Given the description of an element on the screen output the (x, y) to click on. 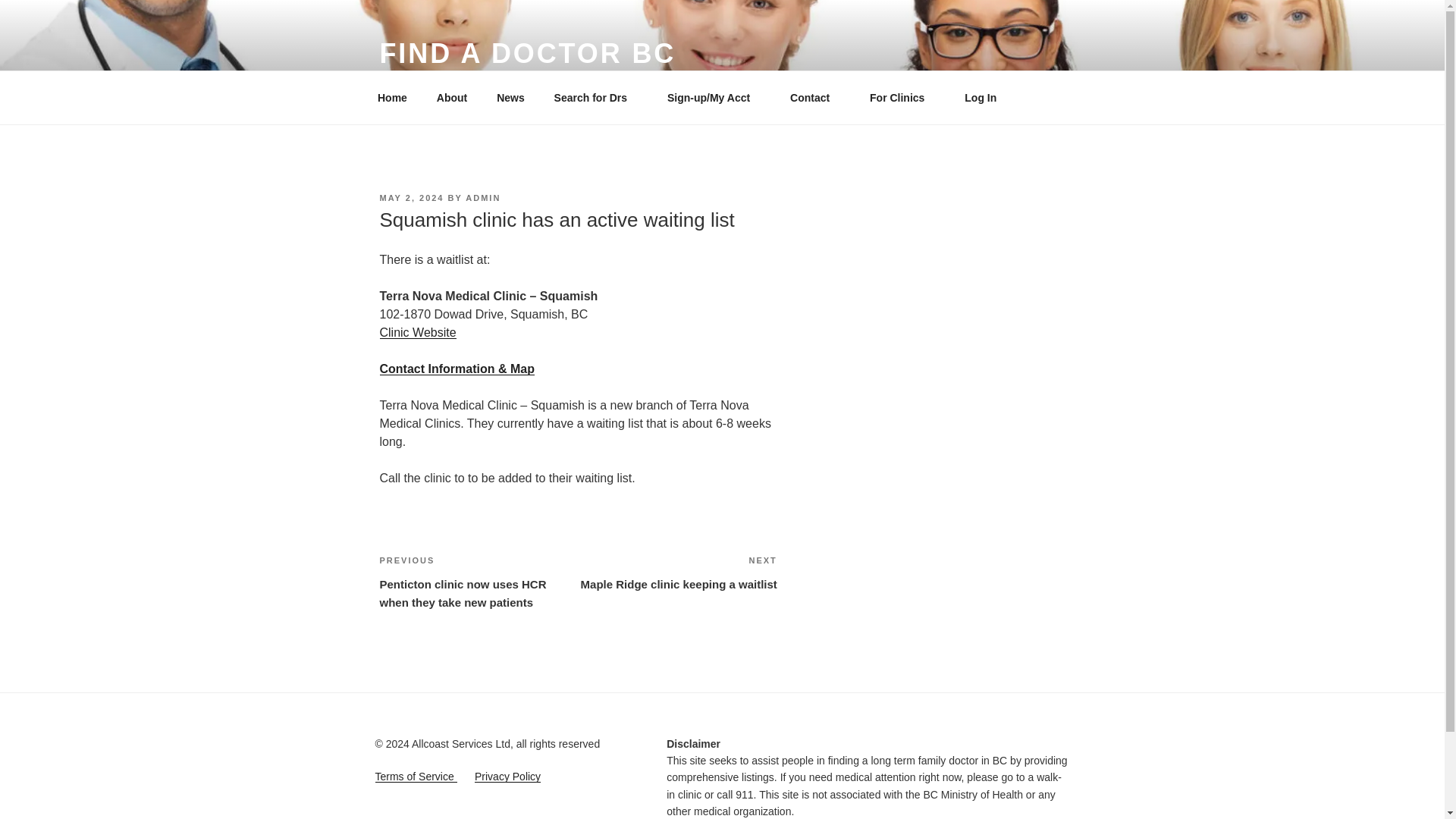
About (451, 97)
Clinic Website (416, 332)
For Clinics (903, 97)
Log In (981, 97)
Contact (815, 97)
News (510, 97)
Terms of Service  (415, 776)
ADMIN (482, 197)
Search for Drs (595, 97)
FIND A DOCTOR BC (526, 52)
MAY 2, 2024 (411, 197)
Privacy Policy (677, 572)
Home (507, 776)
